Given the description of an element on the screen output the (x, y) to click on. 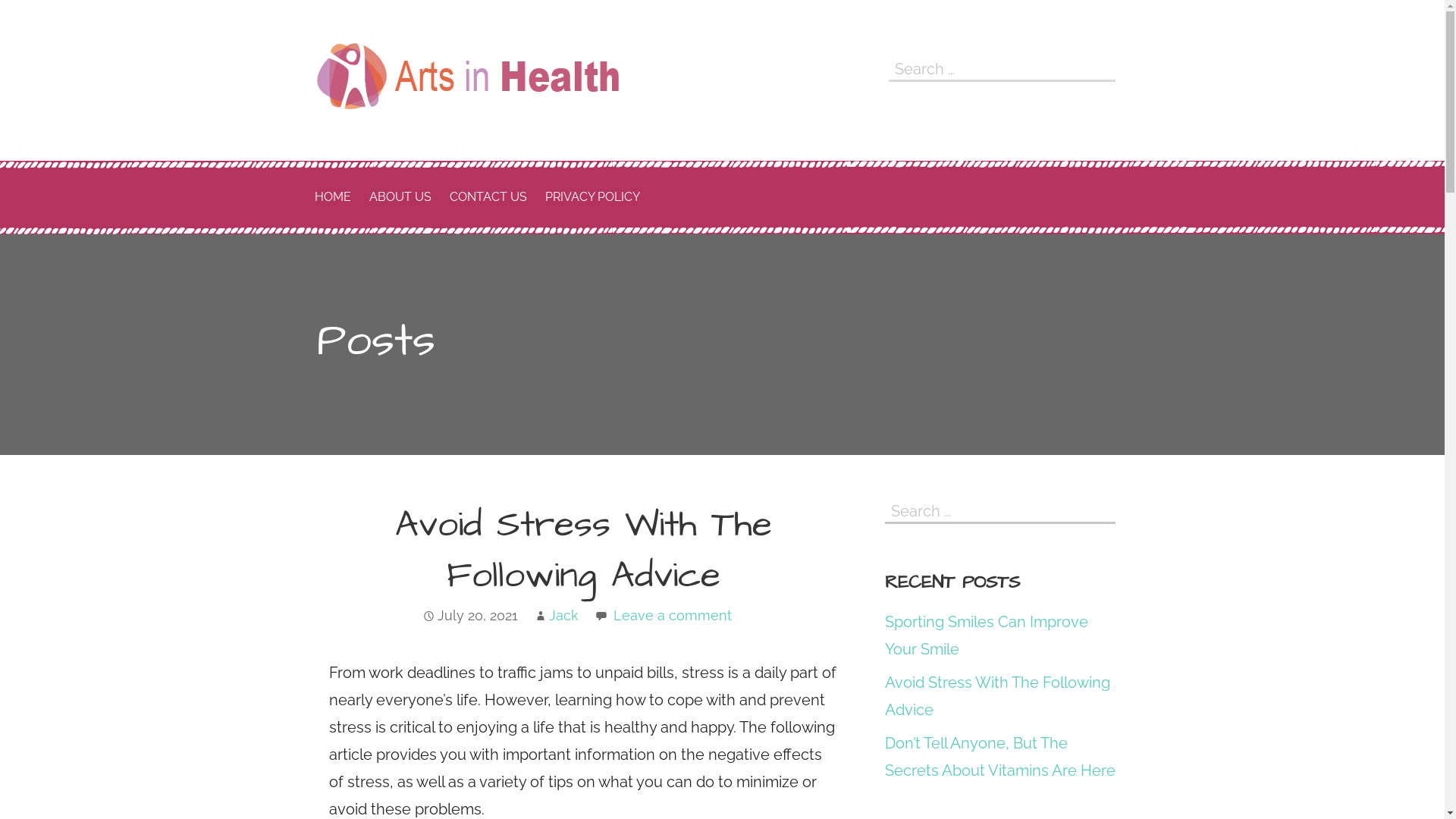
Sporting Smiles Can Improve Your Smile Element type: text (986, 635)
Avoid Stress With The Following Advice Element type: text (997, 695)
CONTACT US Element type: text (487, 197)
Search Element type: text (1100, 67)
HOME Element type: text (331, 197)
Leave a comment Element type: text (672, 615)
ABOUT US Element type: text (399, 197)
arts in health Element type: text (435, 136)
Search Element type: text (1100, 509)
PRIVACY POLICY Element type: text (591, 197)
Jack Element type: text (563, 615)
